Given the description of an element on the screen output the (x, y) to click on. 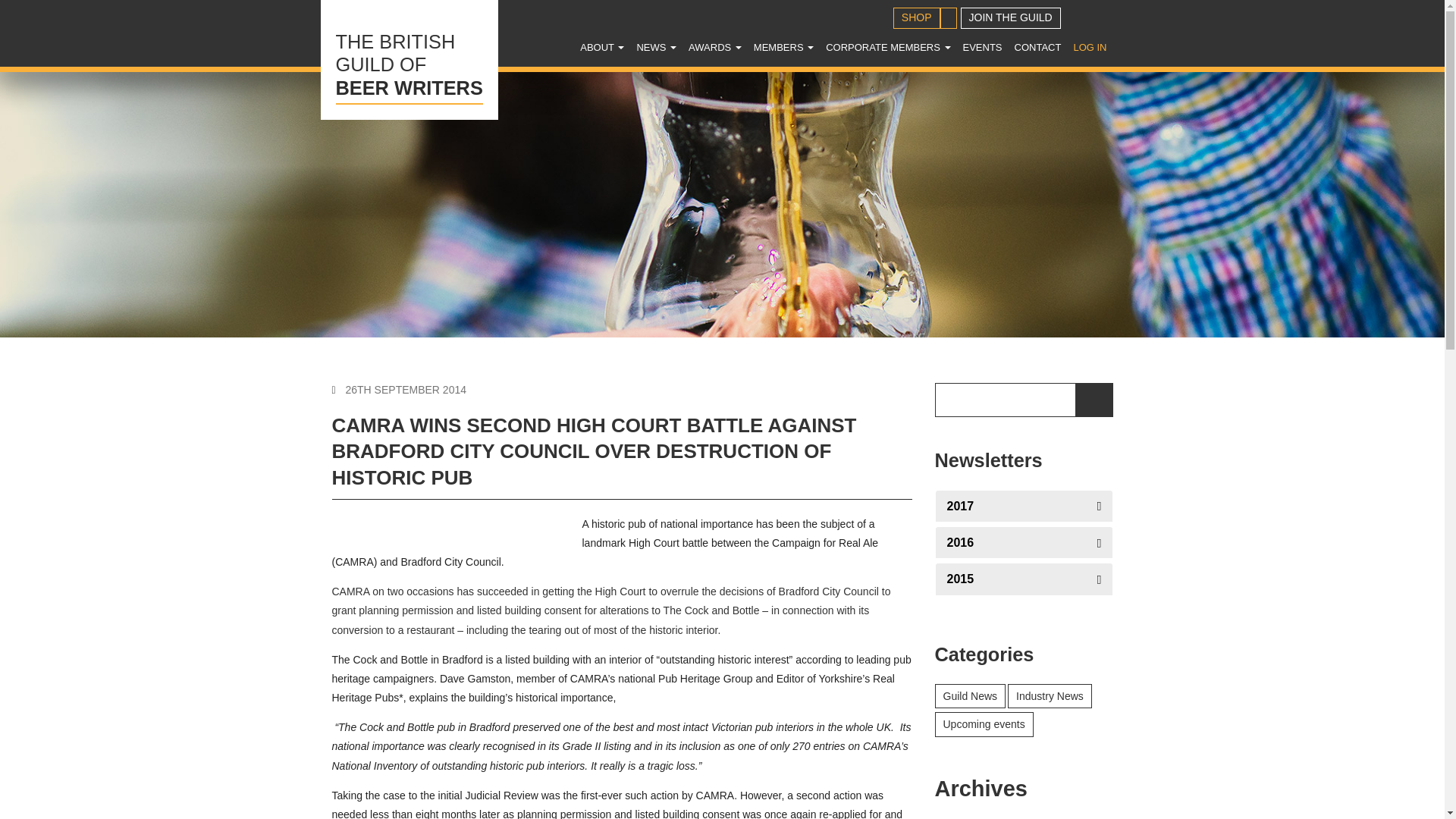
AWARDS (715, 47)
CORPORATE MEMBERS (887, 47)
News (656, 47)
Members (783, 47)
Awards (715, 47)
LOG IN (408, 59)
ABOUT (1089, 47)
NEWS (601, 47)
About (656, 47)
EVENTS (601, 47)
JOIN THE GUILD (982, 47)
CONTACT (1010, 17)
SHOP (1038, 47)
MEMBERS (916, 17)
